Given the description of an element on the screen output the (x, y) to click on. 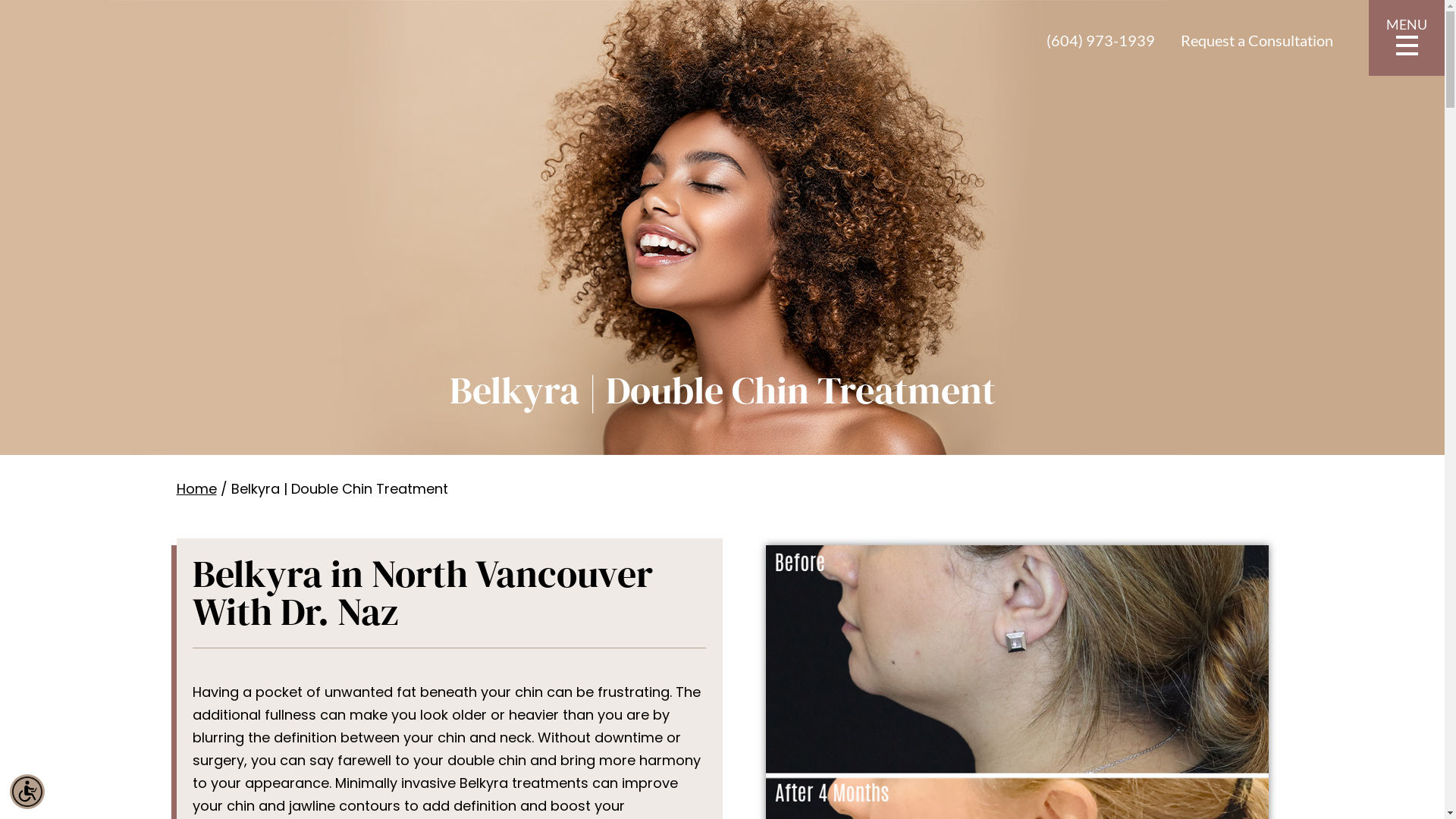
Request a Consultation Element type: text (1256, 39)
(604) 973-1939 Element type: text (1100, 39)
MENU Element type: text (1406, 37)
Home Element type: text (195, 488)
